Given the description of an element on the screen output the (x, y) to click on. 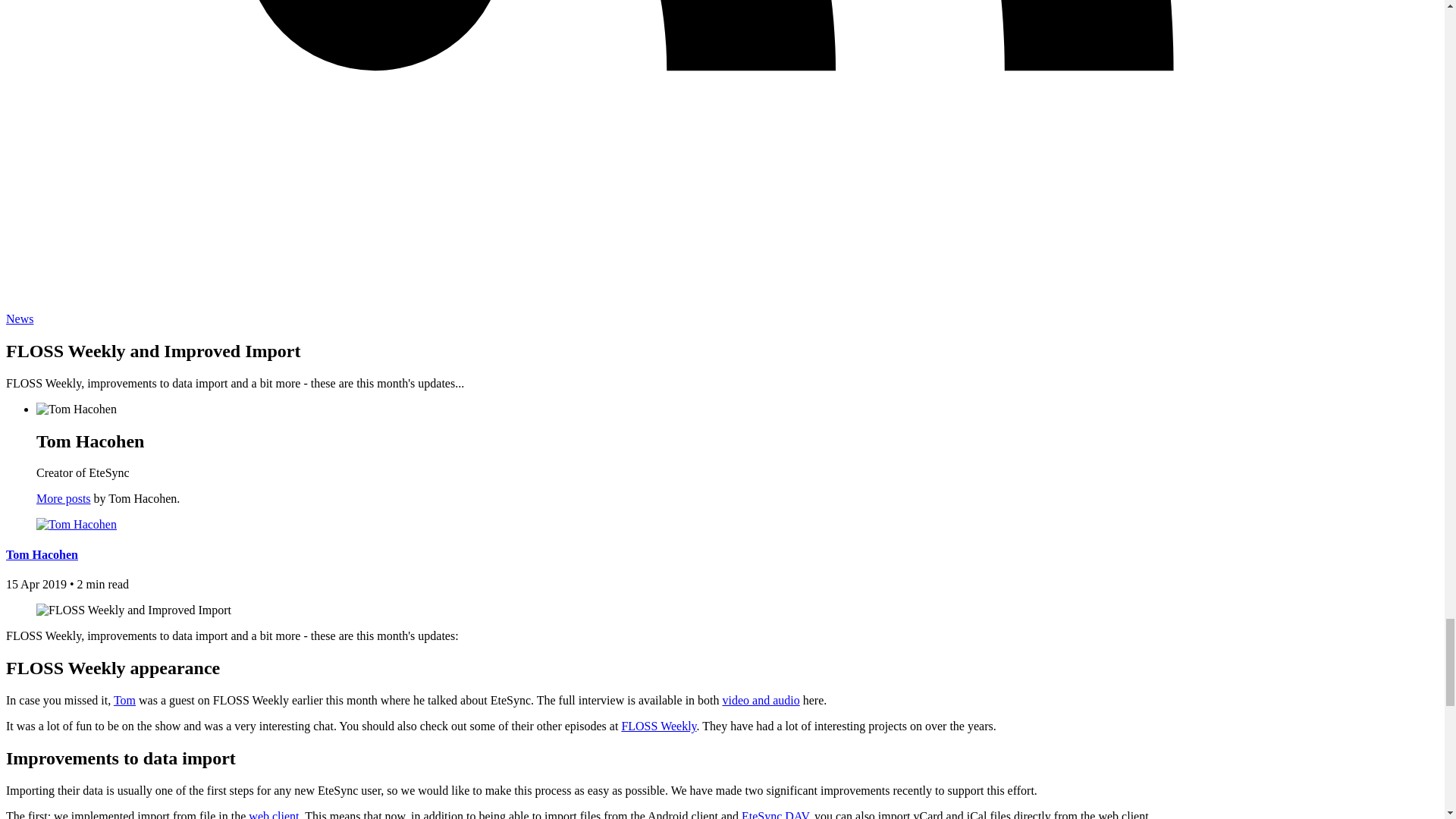
web client (273, 814)
FLOSS Weekly (658, 725)
video and audio (760, 699)
News (19, 318)
Tom Hacohen (41, 554)
More posts (63, 498)
EteSync DAV (774, 814)
Tom (124, 699)
